Given the description of an element on the screen output the (x, y) to click on. 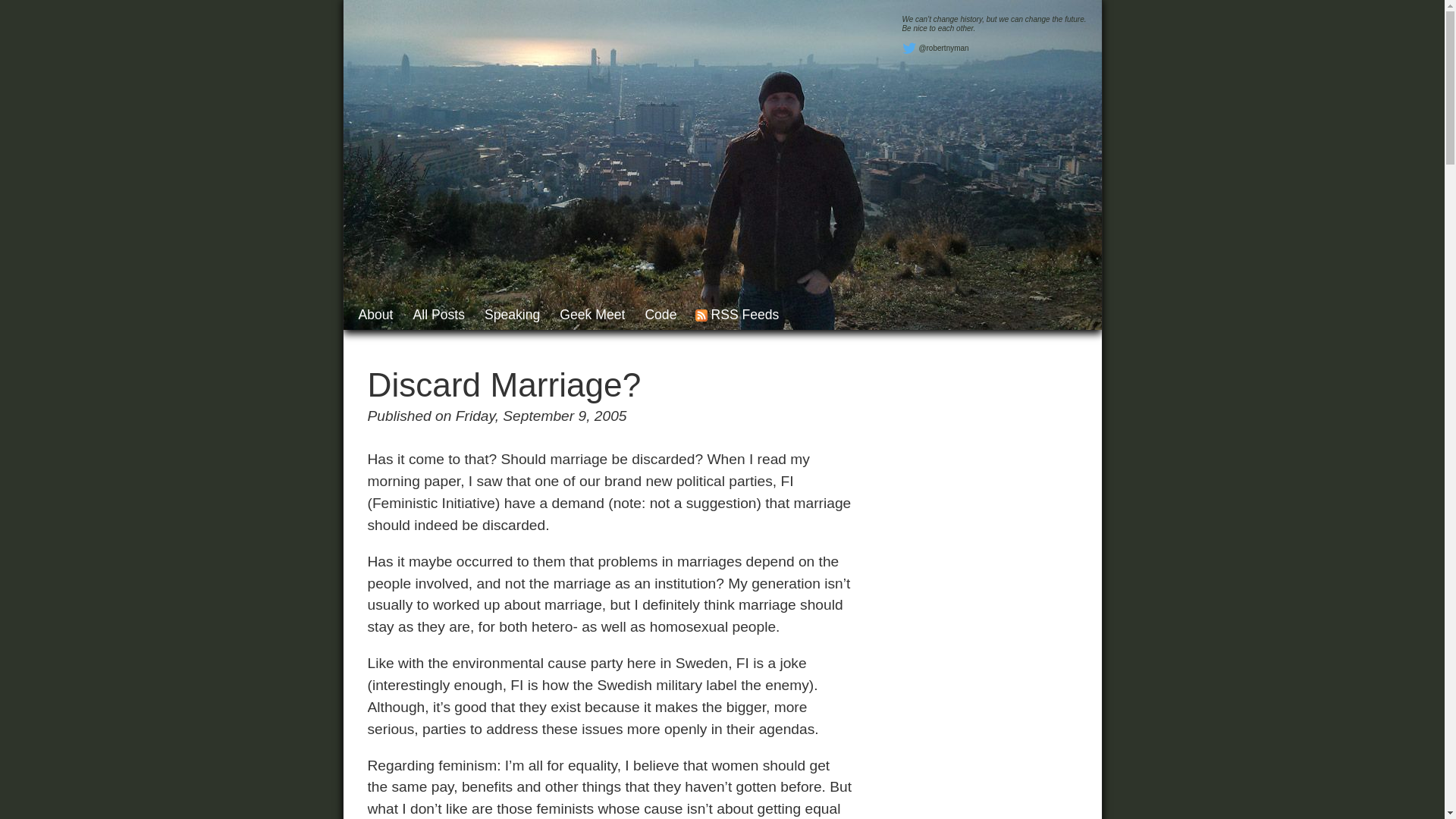
All Posts (437, 314)
RSS Feeds (737, 314)
About (375, 314)
Code (660, 314)
Geek Meet (591, 314)
Speaking (512, 314)
